Given the description of an element on the screen output the (x, y) to click on. 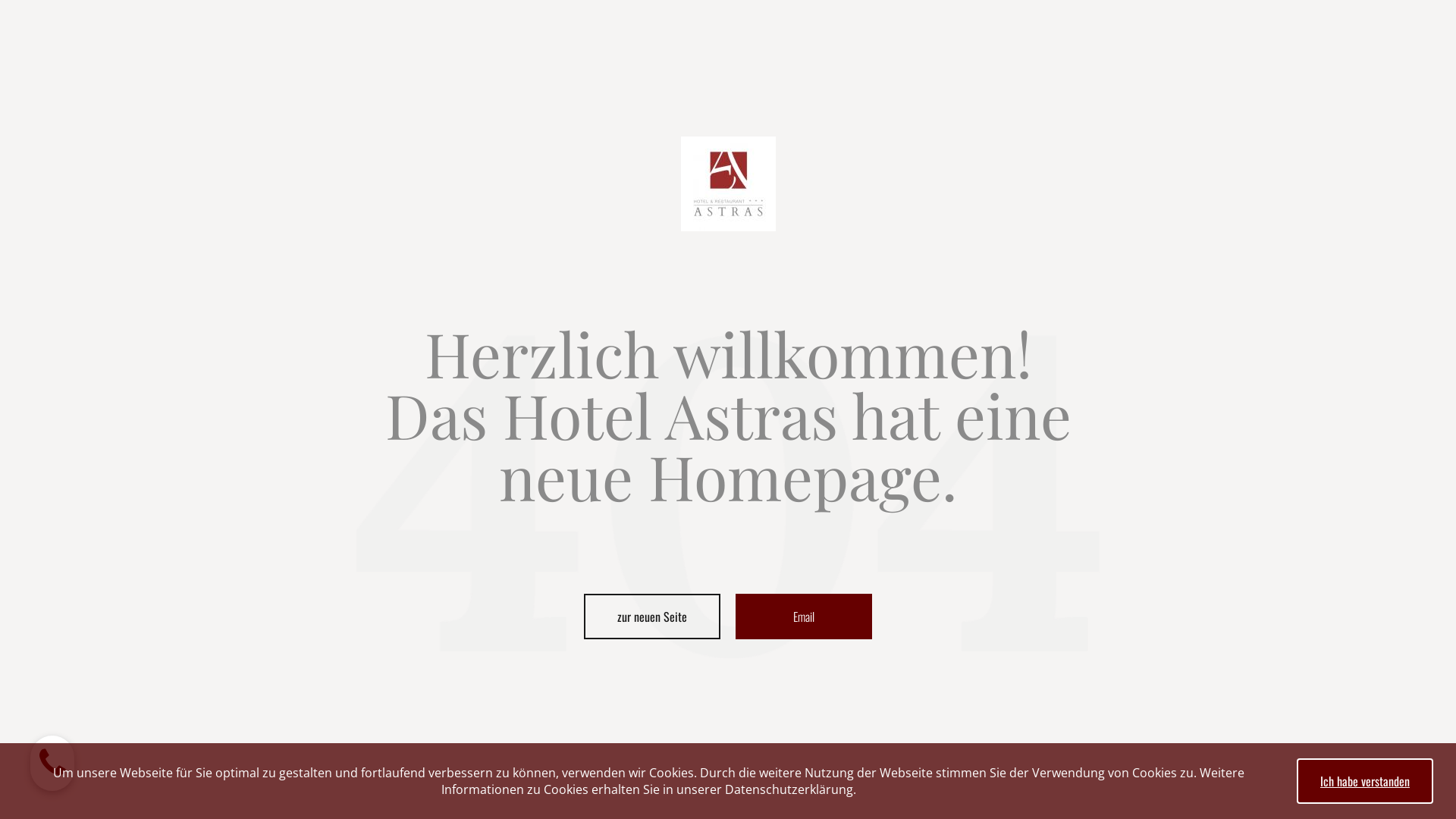
Email Element type: text (803, 616)
zur neuen Seite Element type: text (651, 616)
Ich habe verstanden Element type: text (1364, 780)
